Given the description of an element on the screen output the (x, y) to click on. 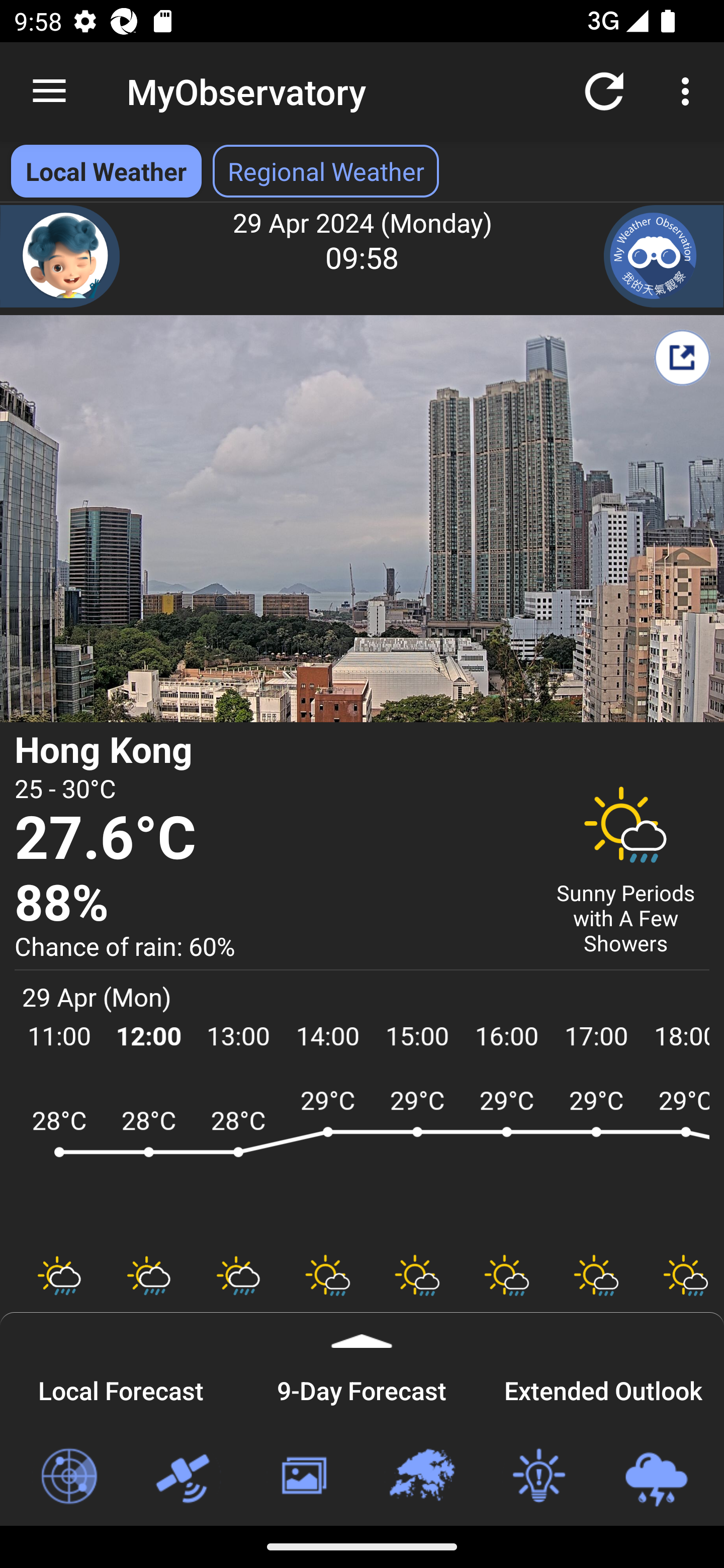
Navigate up (49, 91)
Refresh (604, 90)
More options (688, 90)
Local Weather Local Weather selected (105, 170)
Regional Weather Select Regional Weather (325, 170)
Chatbot (60, 256)
My Weather Observation (663, 256)
Share My Weather Report (681, 357)
27.6°C Temperature
27.6 degree Celsius (270, 839)
88% Relative Humidity
88 percent (270, 903)
ARWF (361, 1160)
Expand (362, 1330)
Local Forecast (120, 1387)
Extended Outlook (603, 1387)
Radar Images (68, 1476)
Satellite Images (185, 1476)
Weather Photos (302, 1476)
Regional Weather (420, 1476)
Weather Tips (537, 1476)
Loc-based Rain & Lightning Forecast (655, 1476)
